Given the description of an element on the screen output the (x, y) to click on. 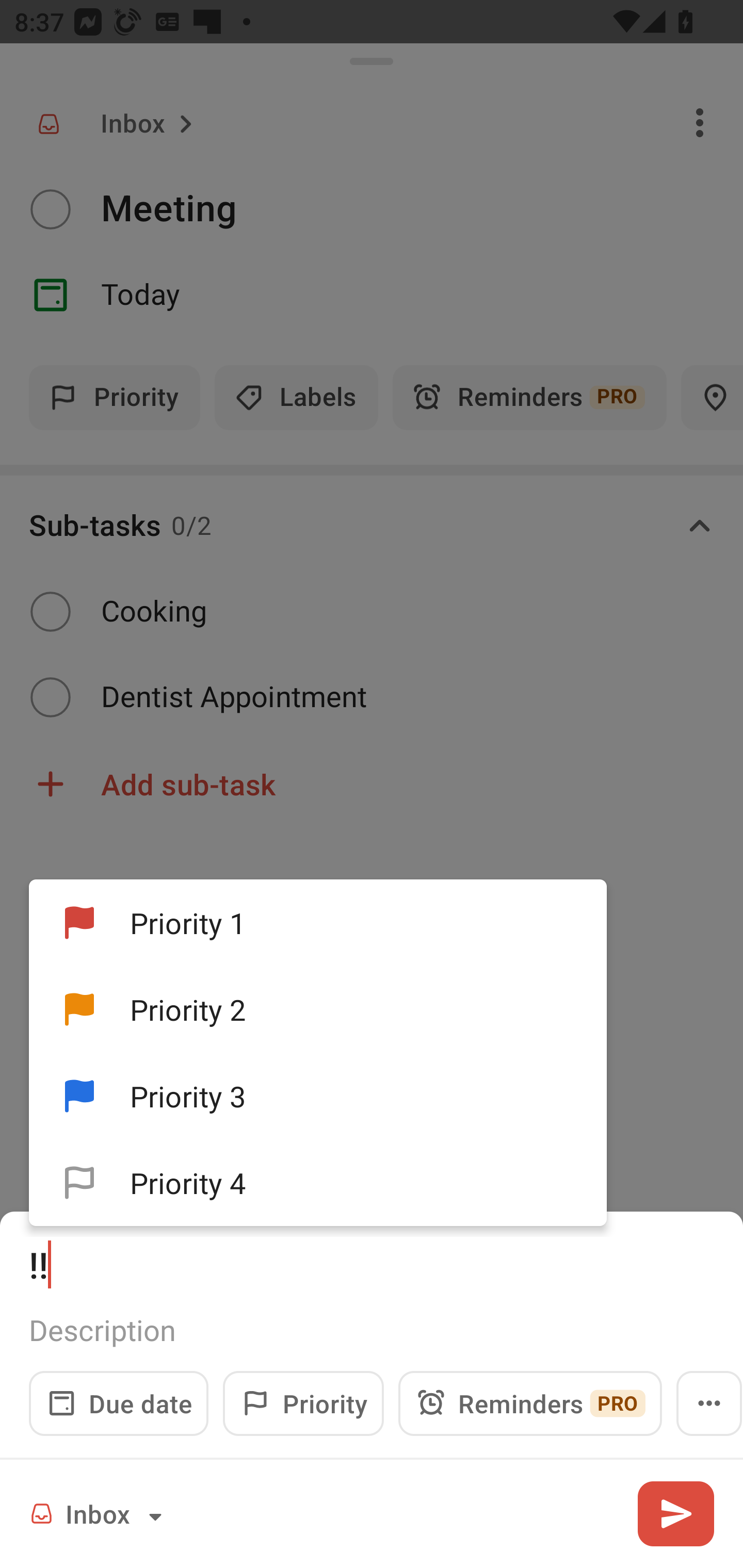
!! (371, 1264)
Description (371, 1330)
Due date Date (118, 1403)
Priority (303, 1403)
Reminders PRO Reminders (530, 1403)
Open menu (709, 1403)
Inbox Project (99, 1513)
Add (675, 1513)
